Given the description of an element on the screen output the (x, y) to click on. 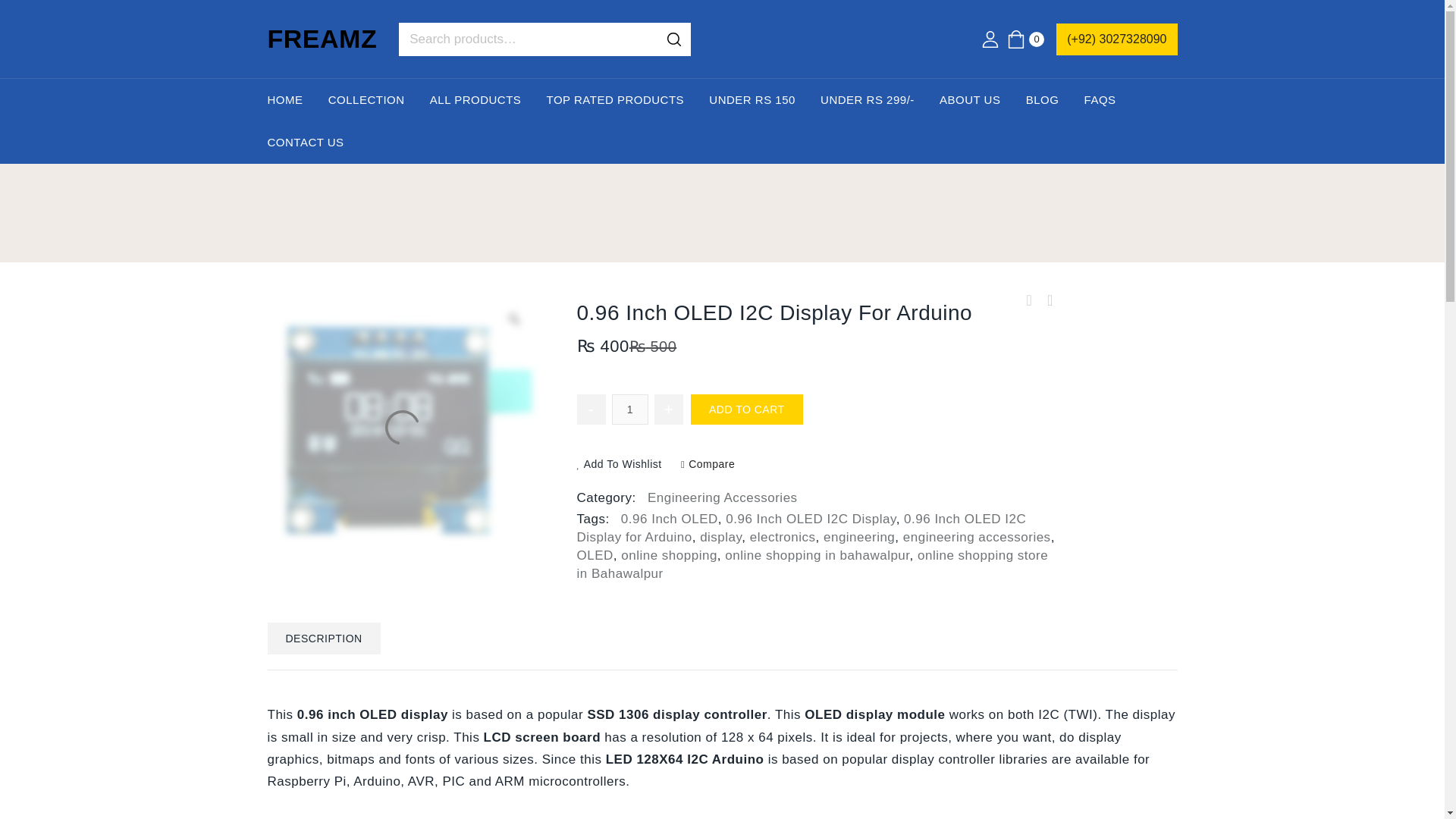
Add To Wishlist (618, 464)
ALL PRODUCTS (475, 99)
0.96 Inch OLED I2C Display for Arduino (801, 527)
4 Digit 7 Segment Common Anode LED Display (1049, 300)
ADD TO CART (746, 409)
CONTACT US (304, 142)
0.96 Inch OLED I2C Display (810, 518)
Qty (629, 409)
Engineering Accessories (722, 497)
0.96 Inch OLED (669, 518)
